Given the description of an element on the screen output the (x, y) to click on. 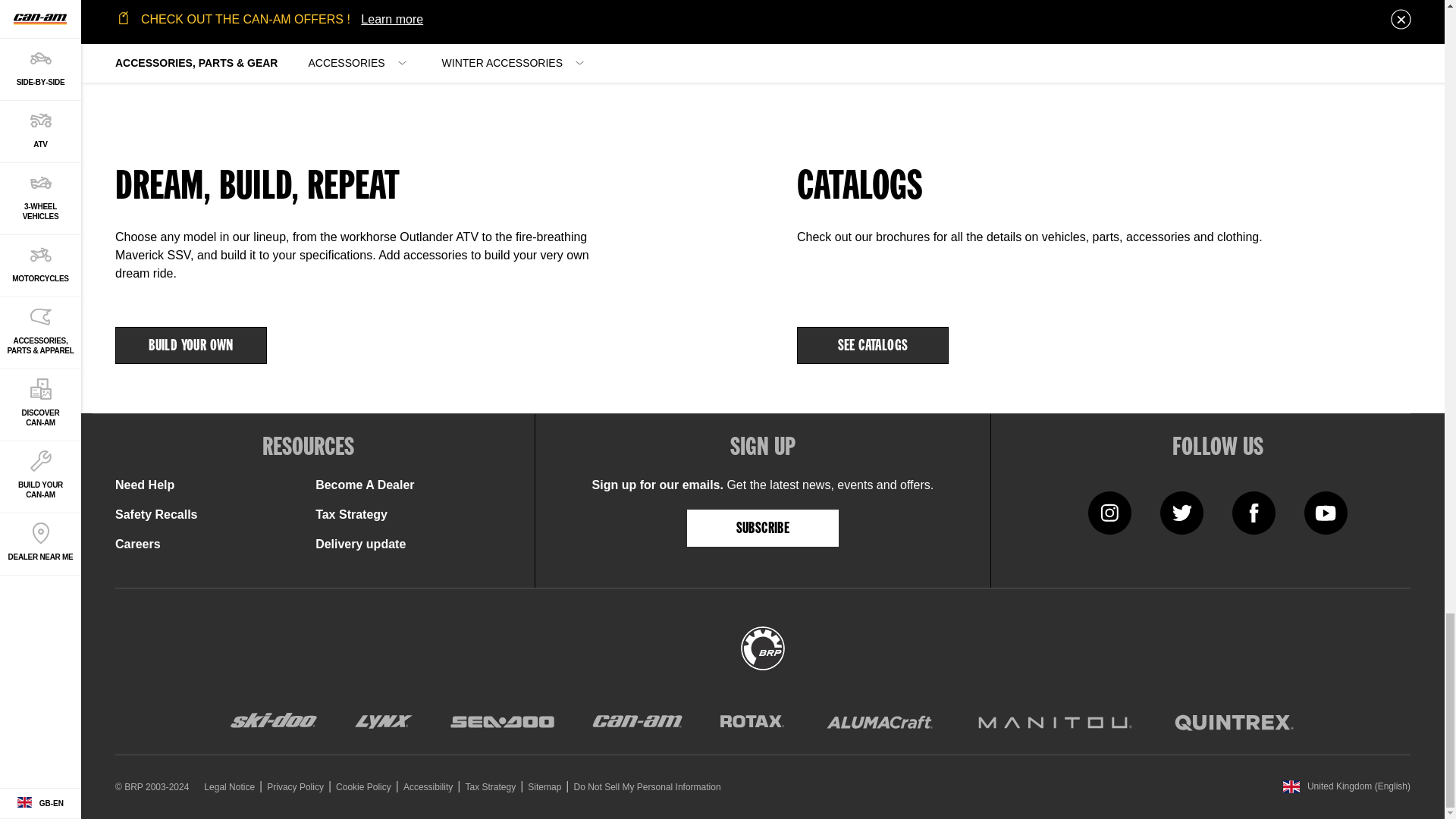
SUBSCRIBE (762, 528)
logo-canam (637, 722)
Become A Dealer (364, 484)
Delivery update (360, 543)
Safety Recalls (156, 513)
Tax Strategy (351, 513)
BUILD YOUR OWN (190, 344)
logo-lynx (383, 722)
SEE CATALOGS (872, 344)
A man with his phone on an ATV (421, 60)
logo-skidoo (273, 722)
logo-seadoo (501, 722)
Need Help (144, 484)
logo-rotax (752, 722)
Careers (137, 543)
